Given the description of an element on the screen output the (x, y) to click on. 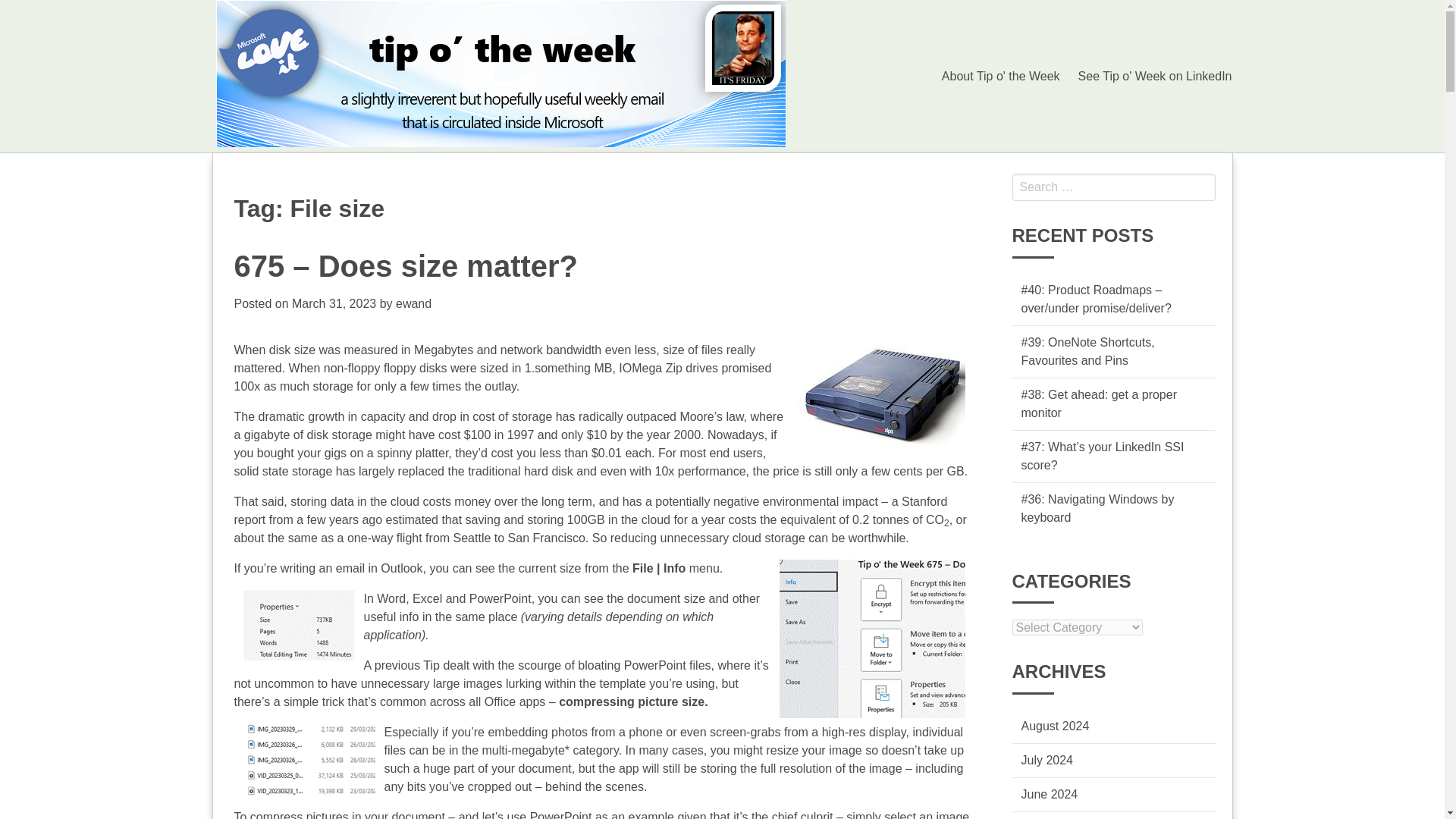
spinny (394, 452)
previous Tip (406, 665)
March 31, 2023 (333, 303)
chief culprit (801, 814)
Search for: (1112, 186)
About Tip o' the Week (1000, 75)
one-way flight (384, 537)
See Tip o' Week on LinkedIn (1154, 75)
has radically outpaced (616, 416)
ewand (413, 303)
